Given the description of an element on the screen output the (x, y) to click on. 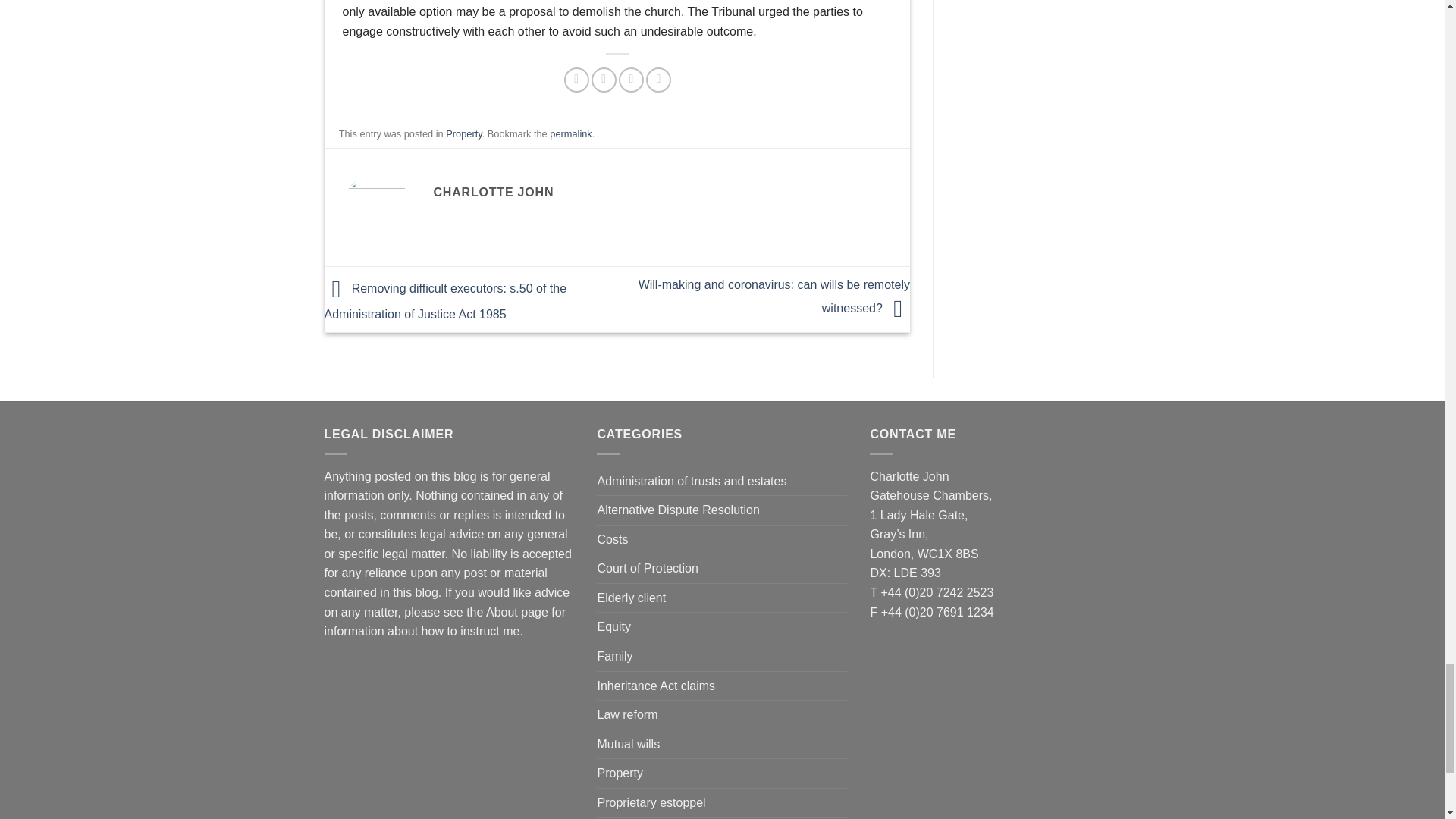
Email to a Friend (630, 79)
Share on LinkedIn (658, 79)
permalink (570, 133)
Share on Facebook (576, 79)
Share on Twitter (603, 79)
Property (463, 133)
